Given the description of an element on the screen output the (x, y) to click on. 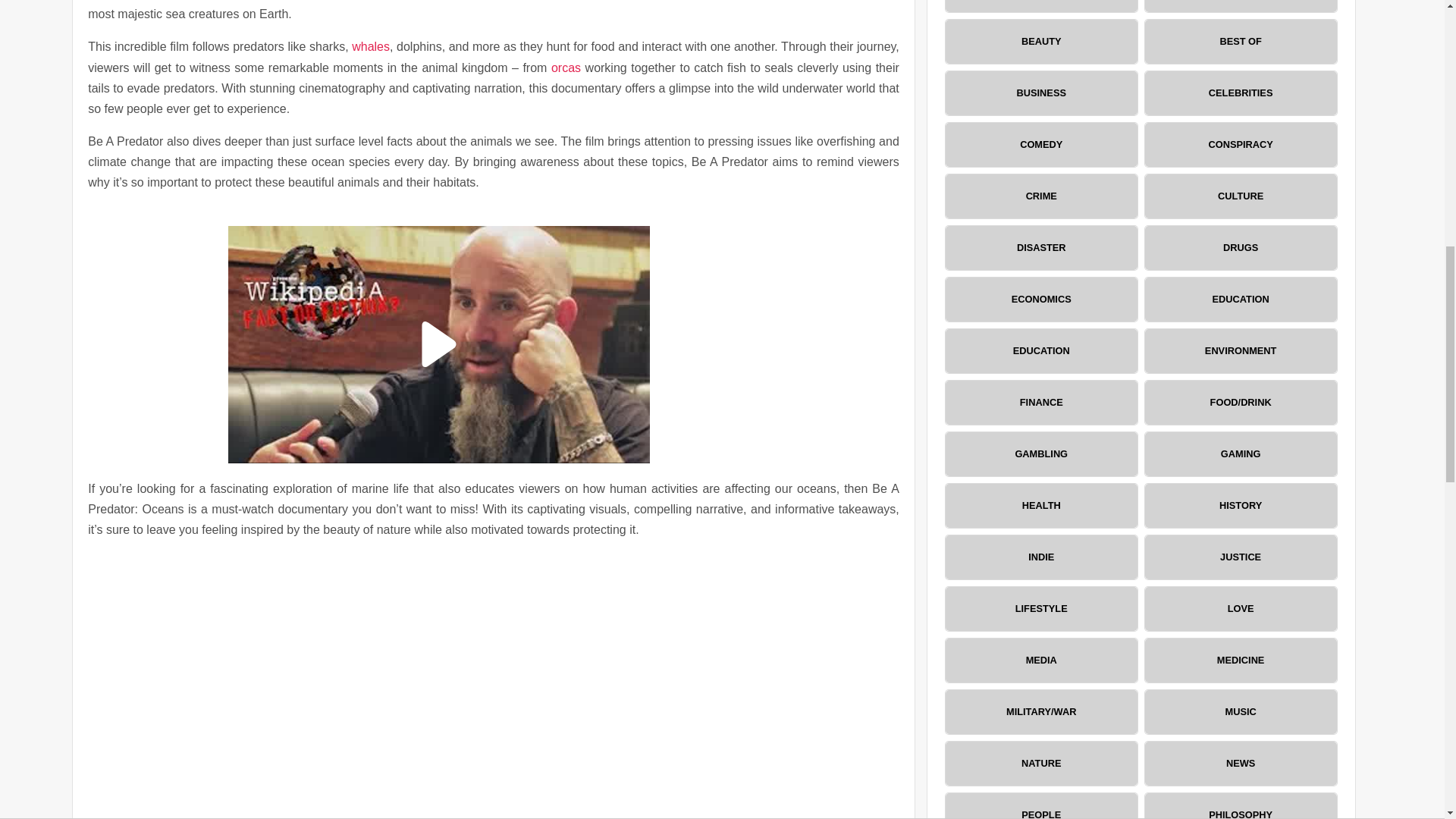
orcas (565, 67)
whales (371, 46)
